Given the description of an element on the screen output the (x, y) to click on. 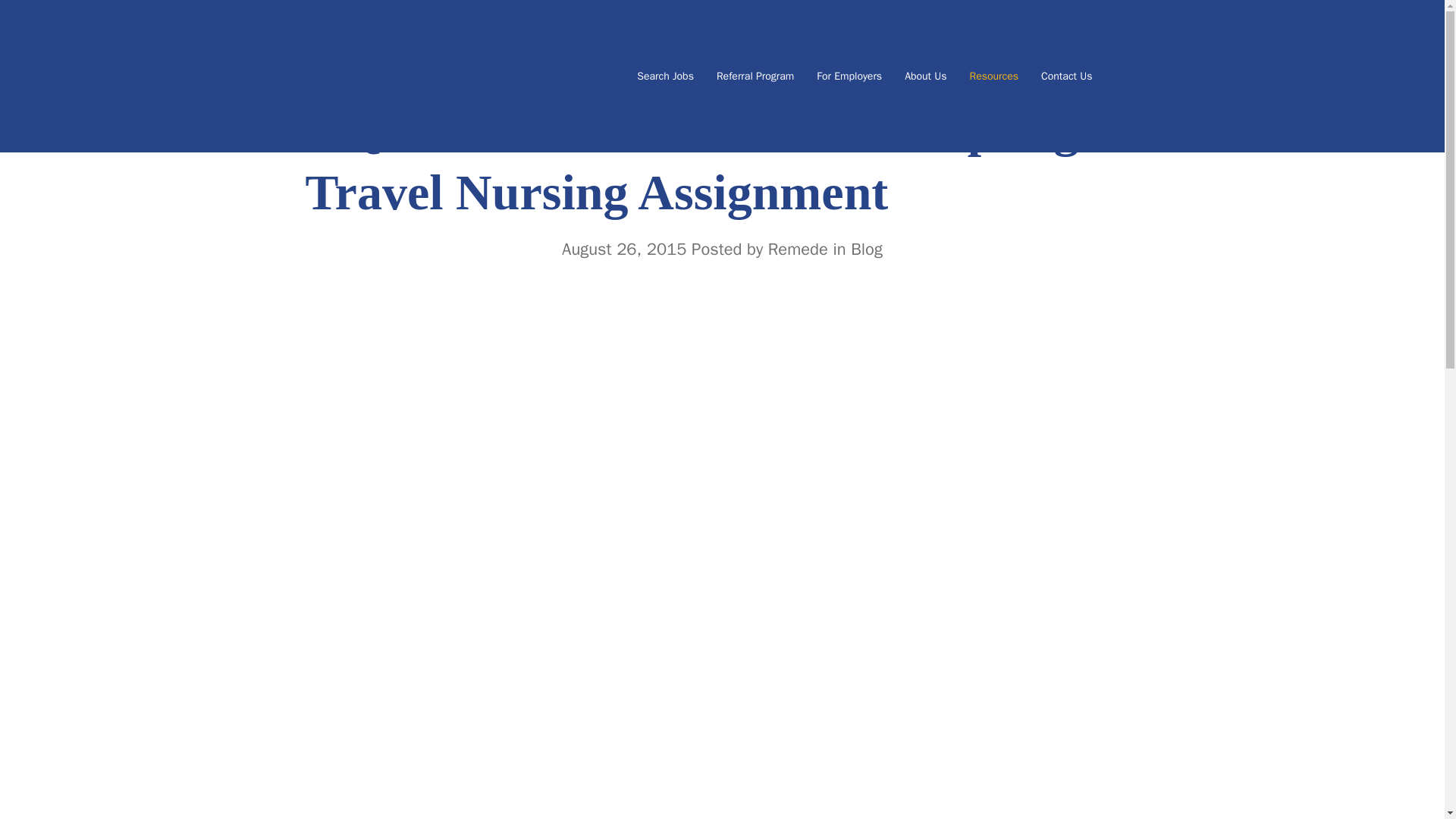
Search Jobs (665, 76)
Employee Login (1126, 75)
Contact Us (1066, 76)
Referral Program (754, 76)
About Us (925, 76)
Blog (866, 249)
Resources (994, 76)
For Employers (849, 76)
